Given the description of an element on the screen output the (x, y) to click on. 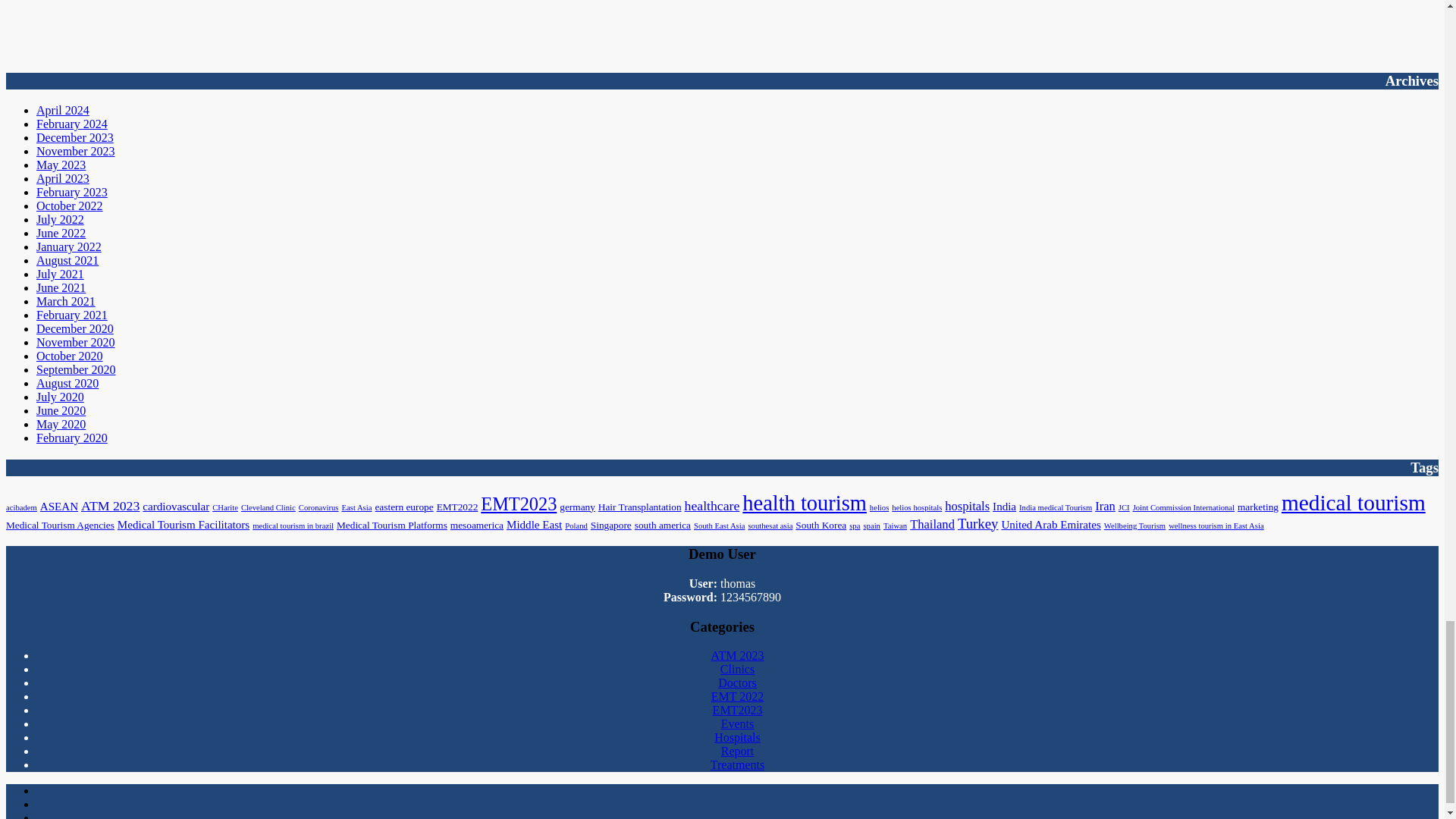
February 2024 (71, 123)
December 2023 (74, 137)
April 2024 (62, 110)
